Given the description of an element on the screen output the (x, y) to click on. 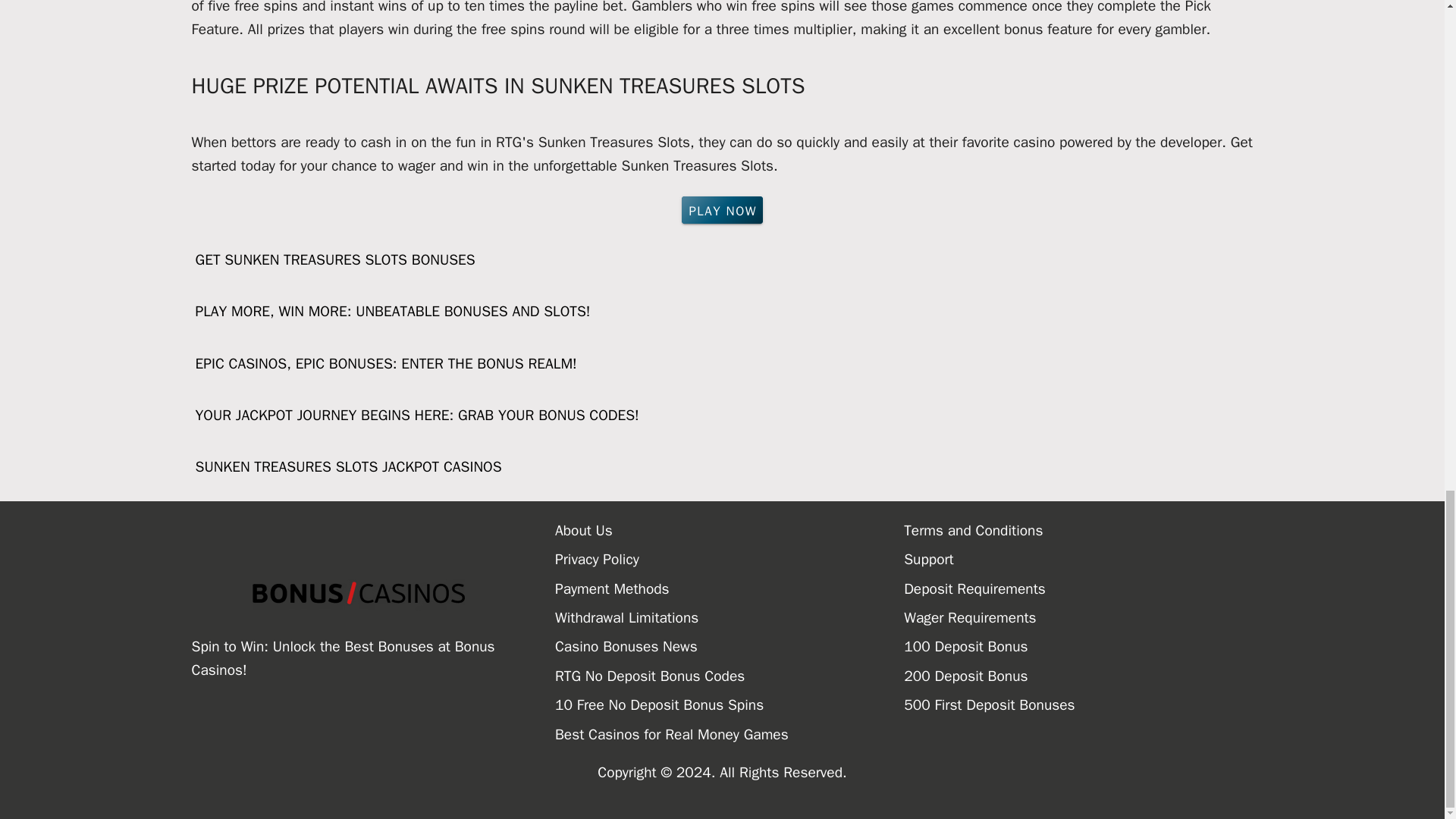
Terms and Conditions (1078, 530)
Support (1078, 559)
200 Deposit Bonus (1078, 676)
100 Deposit Bonus (1078, 646)
Payment Methods (729, 588)
Casino Bonuses News (729, 646)
Privacy Policy (729, 559)
Best Casinos for Real Money Games (729, 734)
PLAY NOW (721, 209)
Wager Requirements (1078, 617)
RTG No Deposit Bonus Codes (729, 676)
10 Free No Deposit Bonus Spins (729, 705)
500 First Deposit Bonuses (1078, 705)
Deposit Requirements (1078, 588)
About Us (729, 530)
